Given the description of an element on the screen output the (x, y) to click on. 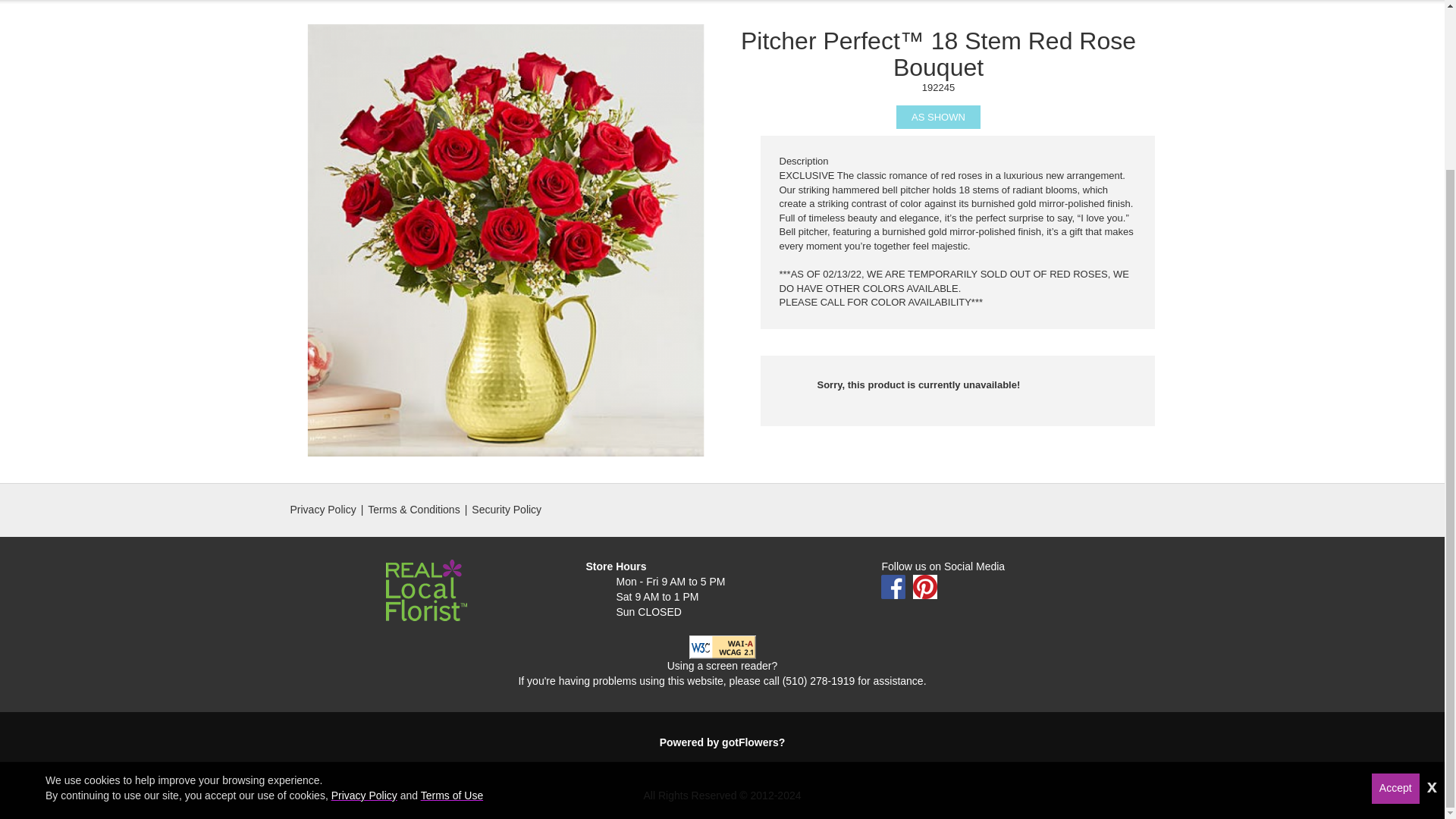
Privacy Policy (364, 591)
Security Policy (506, 509)
AS SHOWN (937, 116)
Terms of Use (451, 591)
Privacy Policy (322, 509)
Explanation of WCAG 2 Level A Conformance (721, 645)
